Given the description of an element on the screen output the (x, y) to click on. 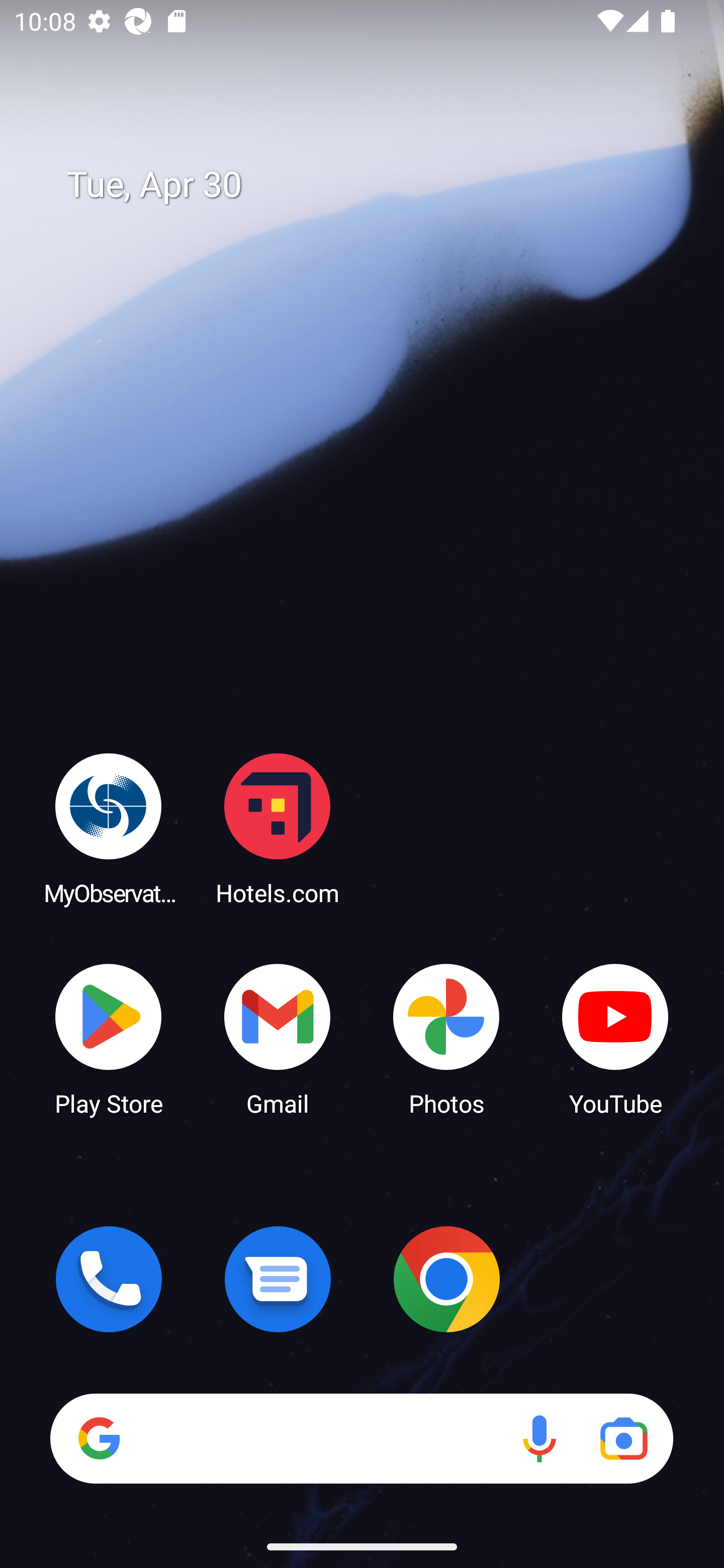
Tue, Apr 30 (375, 184)
MyObservatory (108, 828)
Hotels.com (277, 828)
Play Store (108, 1038)
Gmail (277, 1038)
Photos (445, 1038)
YouTube (615, 1038)
Phone (108, 1279)
Messages (277, 1279)
Chrome (446, 1279)
Search Voice search Google Lens (361, 1438)
Voice search (539, 1438)
Google Lens (623, 1438)
